Given the description of an element on the screen output the (x, y) to click on. 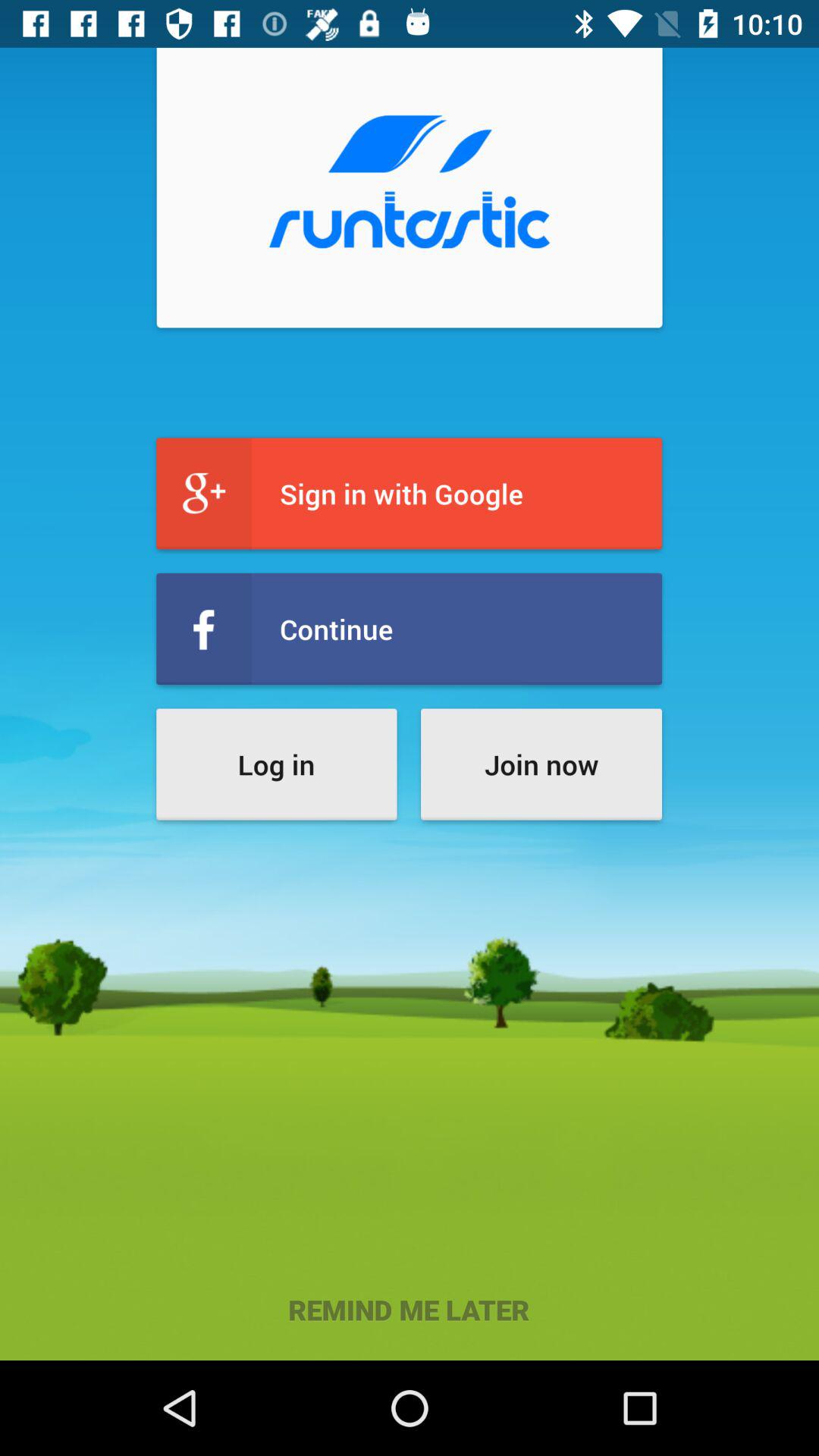
launch item above the remind me later icon (541, 764)
